Given the description of an element on the screen output the (x, y) to click on. 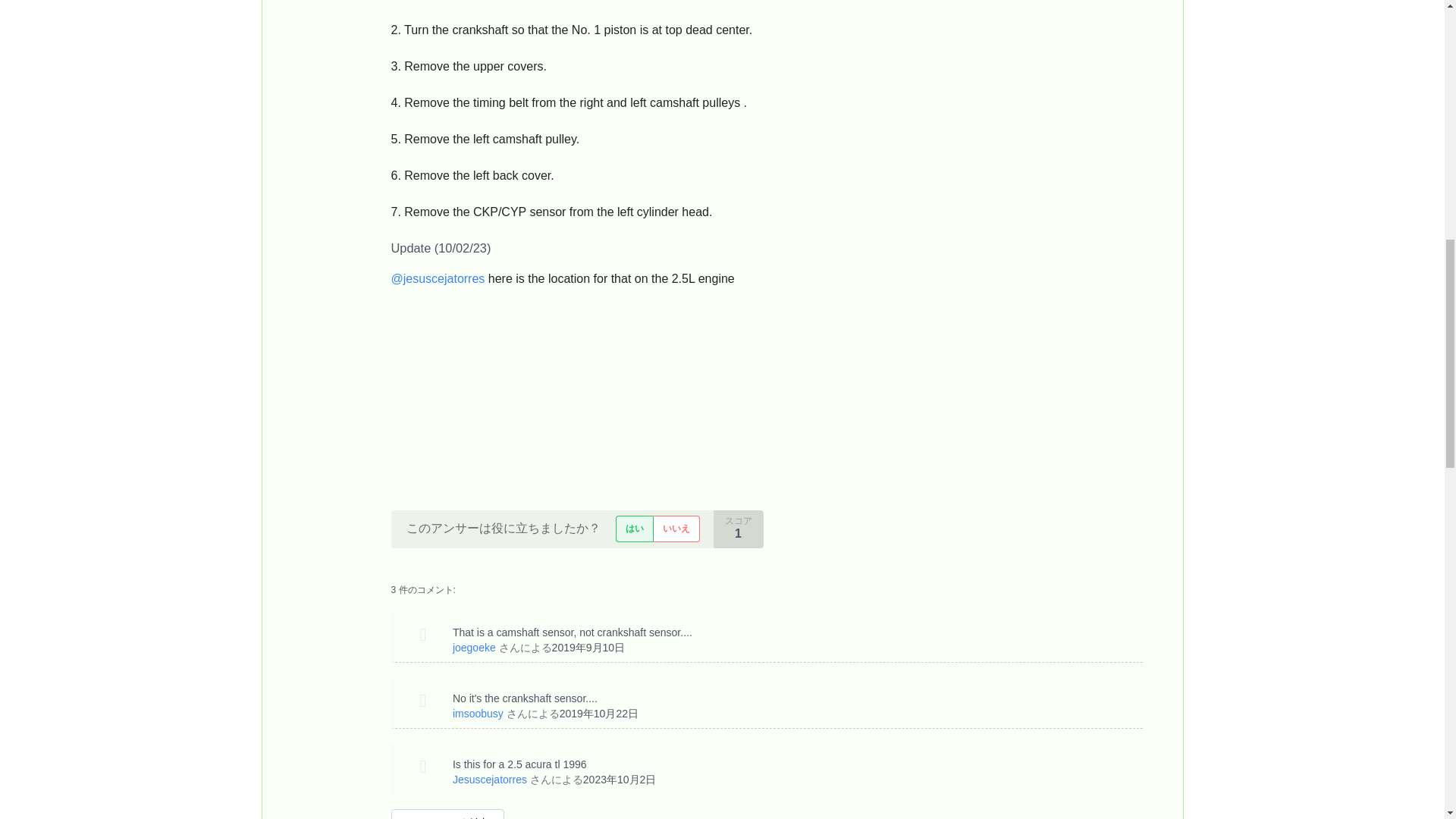
Tue, 22 Oct 2019 13:19:12 -0700 (599, 713)
Tue, 10 Sep 2019 17:27:15 -0700 (588, 647)
Mon, 02 Oct 2023 12:19:30 -0700 (619, 779)
